Given the description of an element on the screen output the (x, y) to click on. 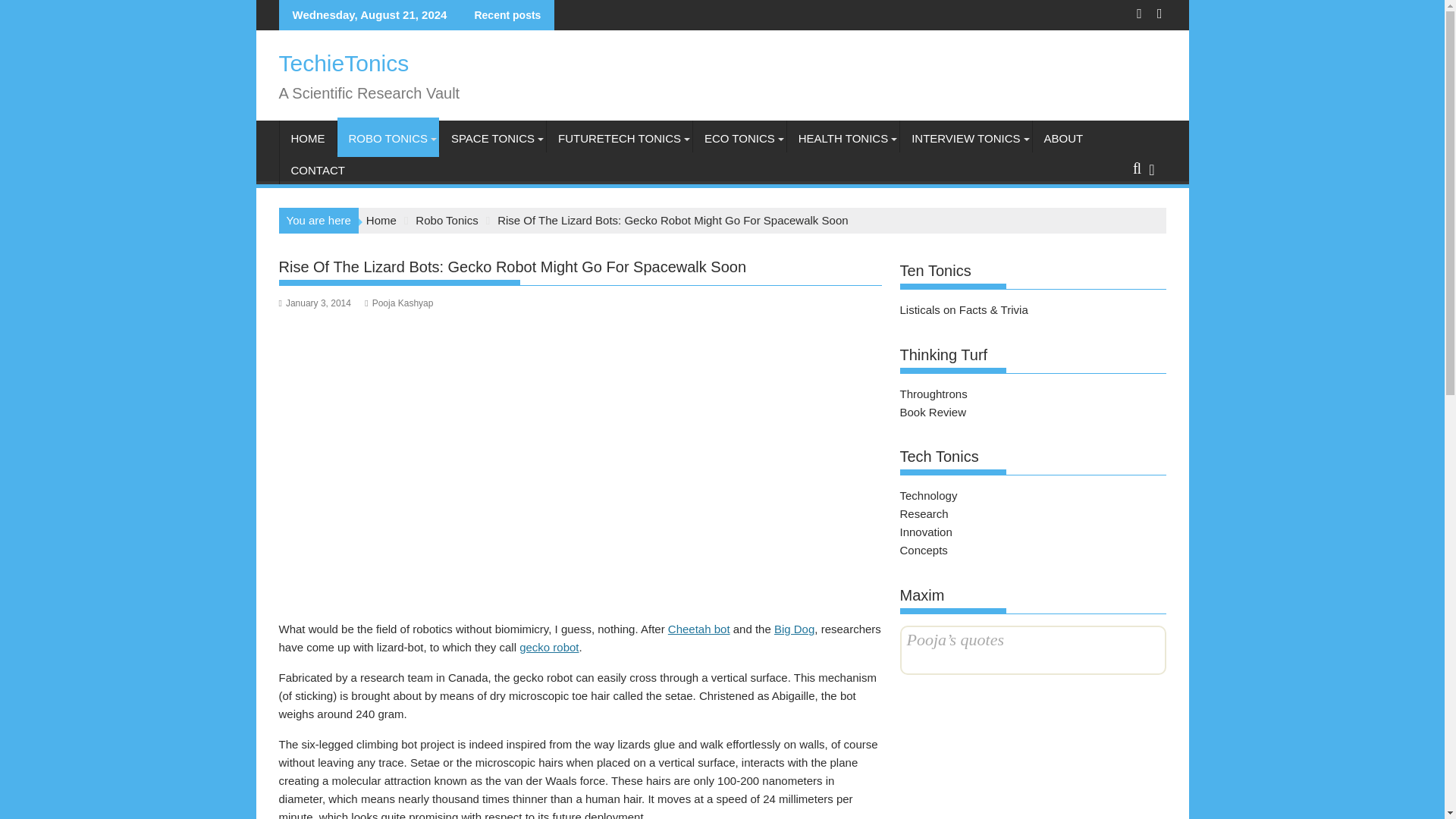
HOME (307, 138)
ECO TONICS (739, 138)
HEALTH TONICS (843, 138)
CONTACT (317, 170)
ABOUT (1063, 138)
SPACE TONICS (492, 138)
TechieTonics (344, 63)
FUTURETECH TONICS (620, 138)
ROBO TONICS (387, 138)
INTERVIEW TONICS (964, 138)
